Given the description of an element on the screen output the (x, y) to click on. 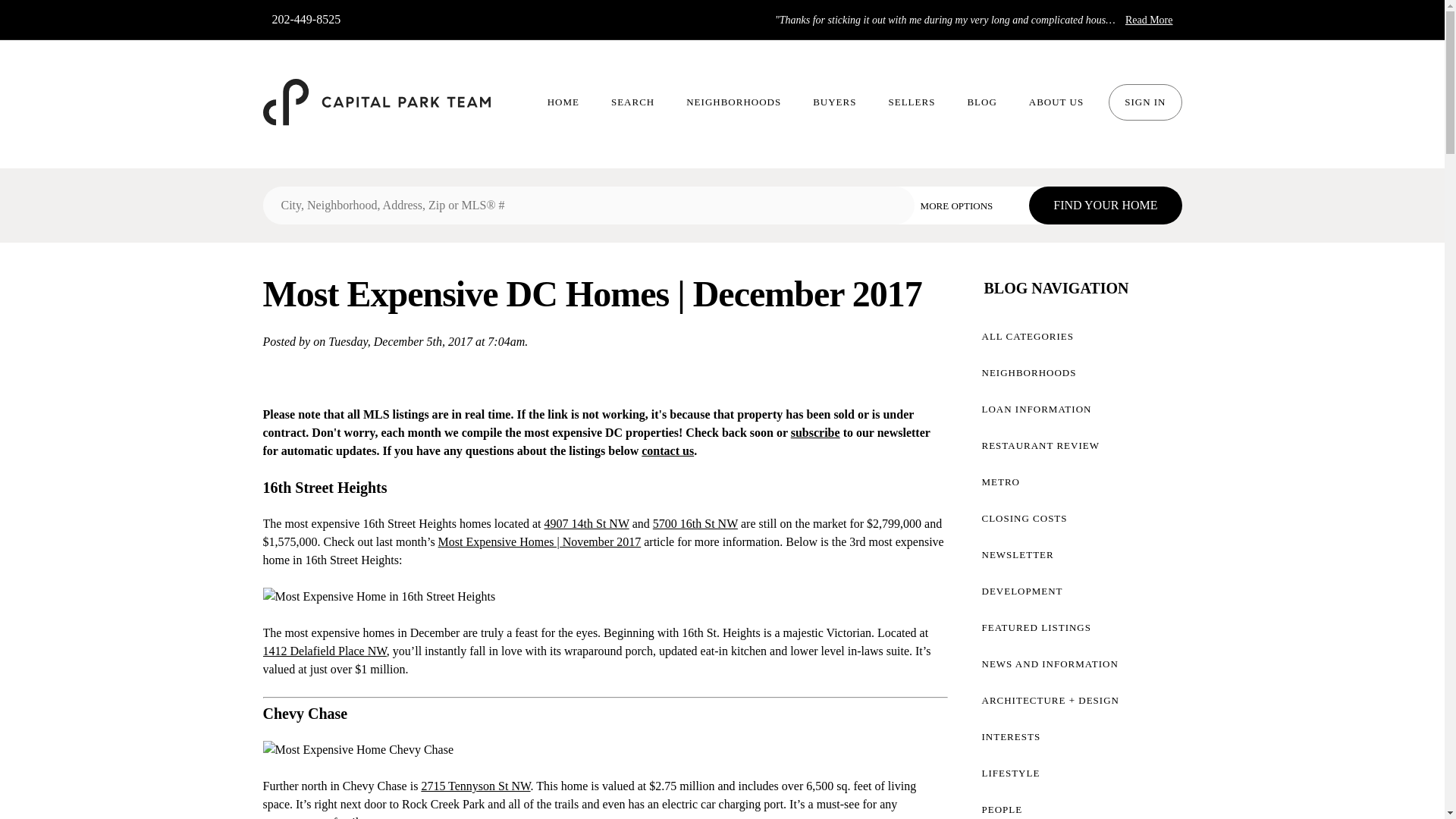
BLOG (980, 102)
ABOUT US (1056, 102)
MORE OPTIONS (968, 204)
SEARCH (632, 102)
5700 16th St NW (695, 522)
FIND YOUR HOME (1104, 205)
SELLERS (911, 102)
subscribe (815, 431)
4907 14th St NW (586, 522)
contact us (668, 450)
16th Street Heights (324, 487)
HOME (563, 102)
BUYERS (834, 102)
Read More (1149, 19)
SIGN IN (1144, 102)
